Given the description of an element on the screen output the (x, y) to click on. 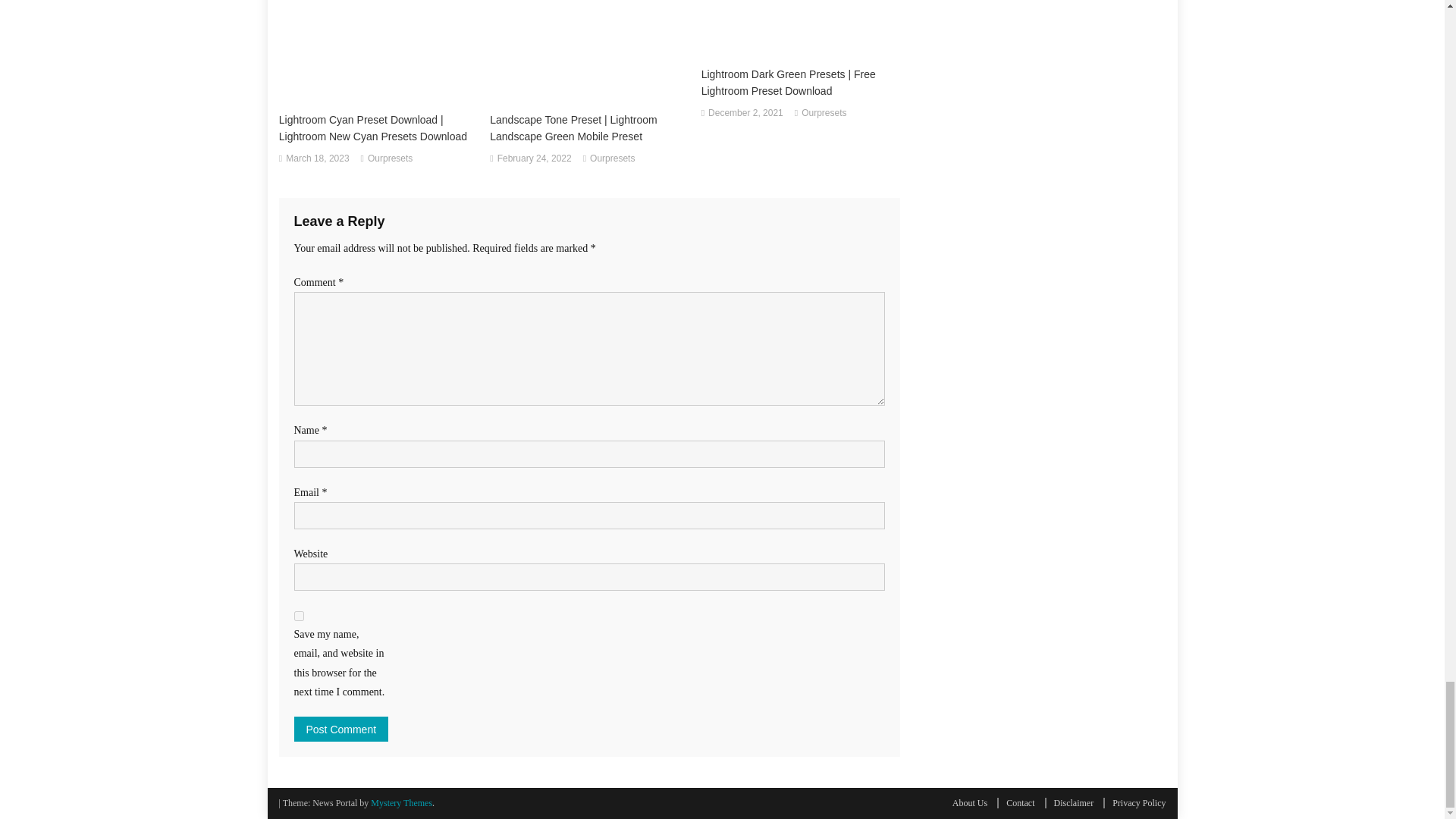
Post Comment (341, 729)
yes (299, 615)
